Given the description of an element on the screen output the (x, y) to click on. 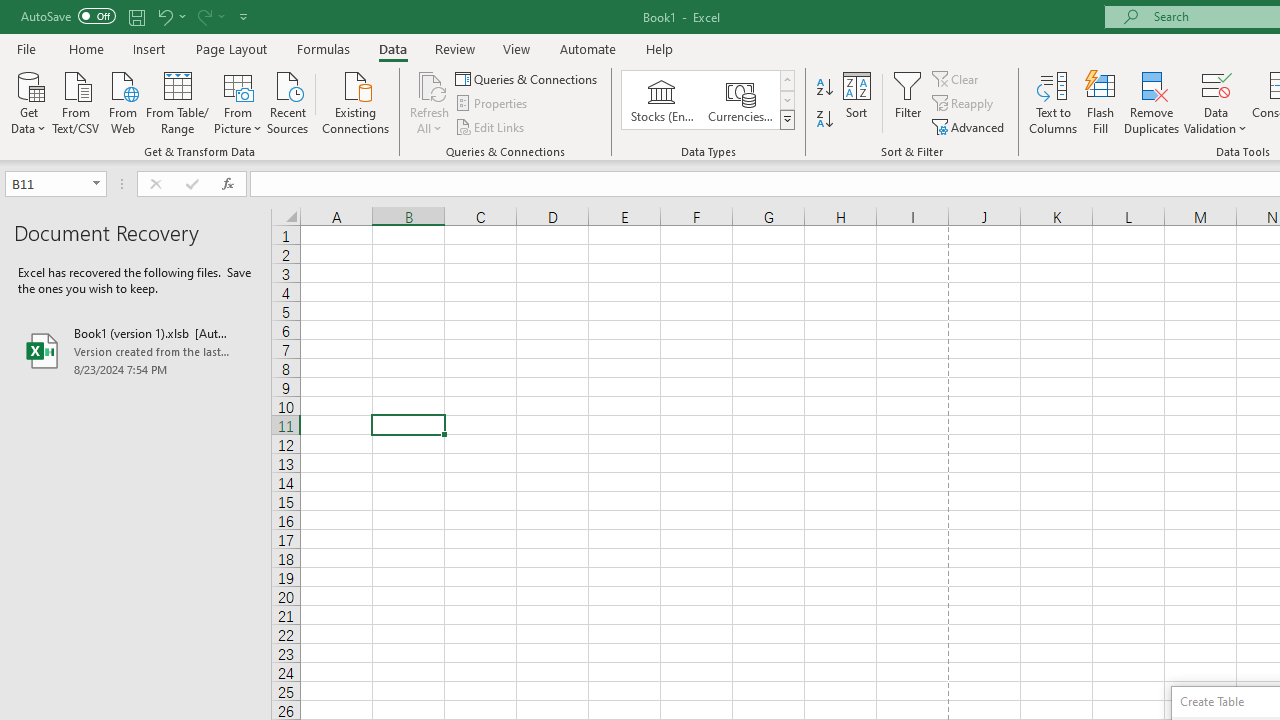
Customize Quick Access Toolbar (244, 15)
Recent Sources (287, 101)
Edit Links (491, 126)
Get Data (28, 101)
Open (96, 183)
Remove Duplicates (1151, 102)
Flash Fill (1101, 102)
Refresh All (429, 102)
